Given the description of an element on the screen output the (x, y) to click on. 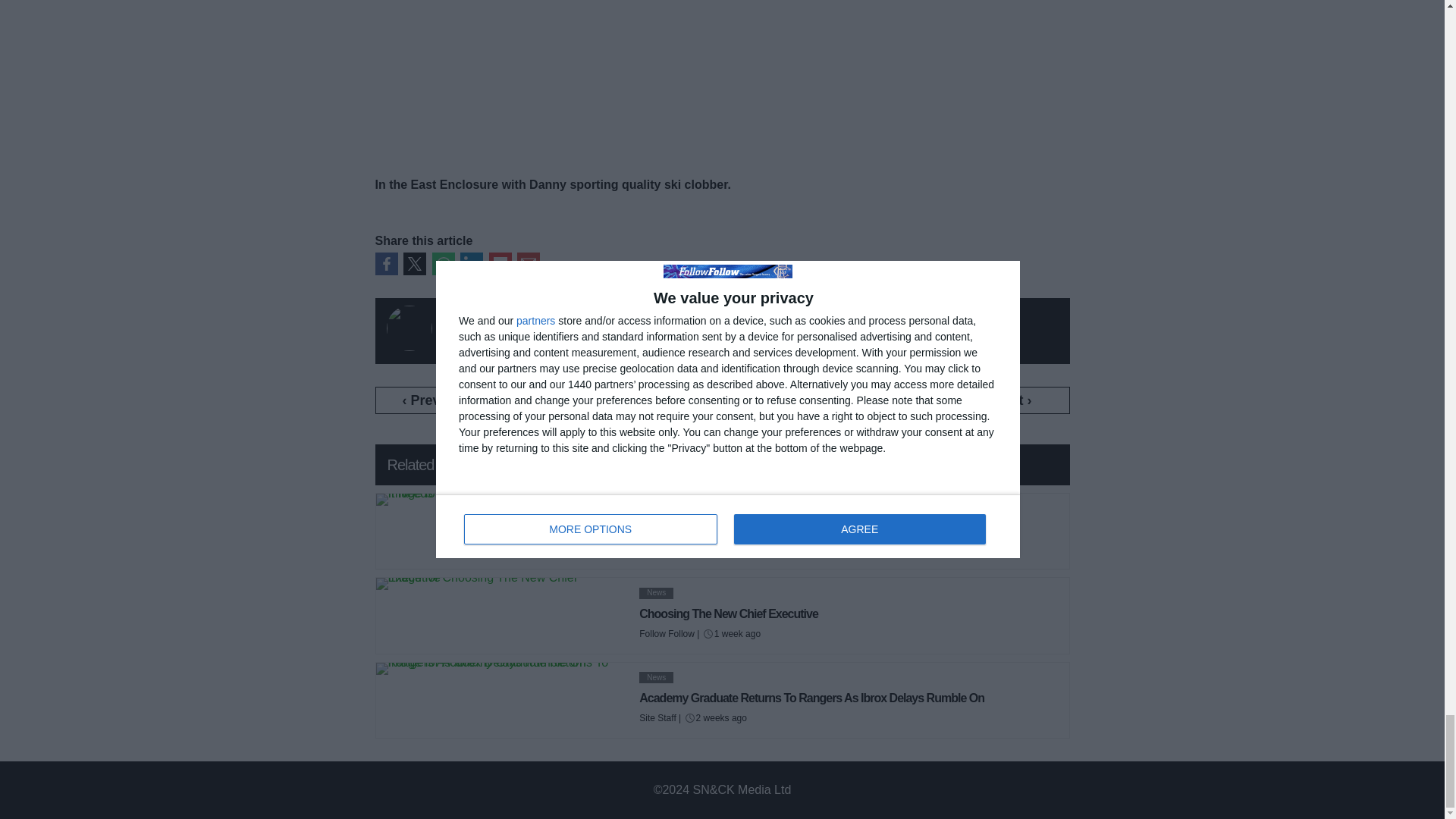
share on Facebook (385, 263)
share on Flipboard (499, 263)
News (655, 508)
Follow Follow (499, 328)
share on Email (528, 263)
Rangers Look To The Future But It Needs Some Goodbyes (787, 528)
Site Staff (657, 548)
share on Twitter (414, 263)
share on WhatsApp (443, 263)
share on LinkedIn (471, 263)
